Given the description of an element on the screen output the (x, y) to click on. 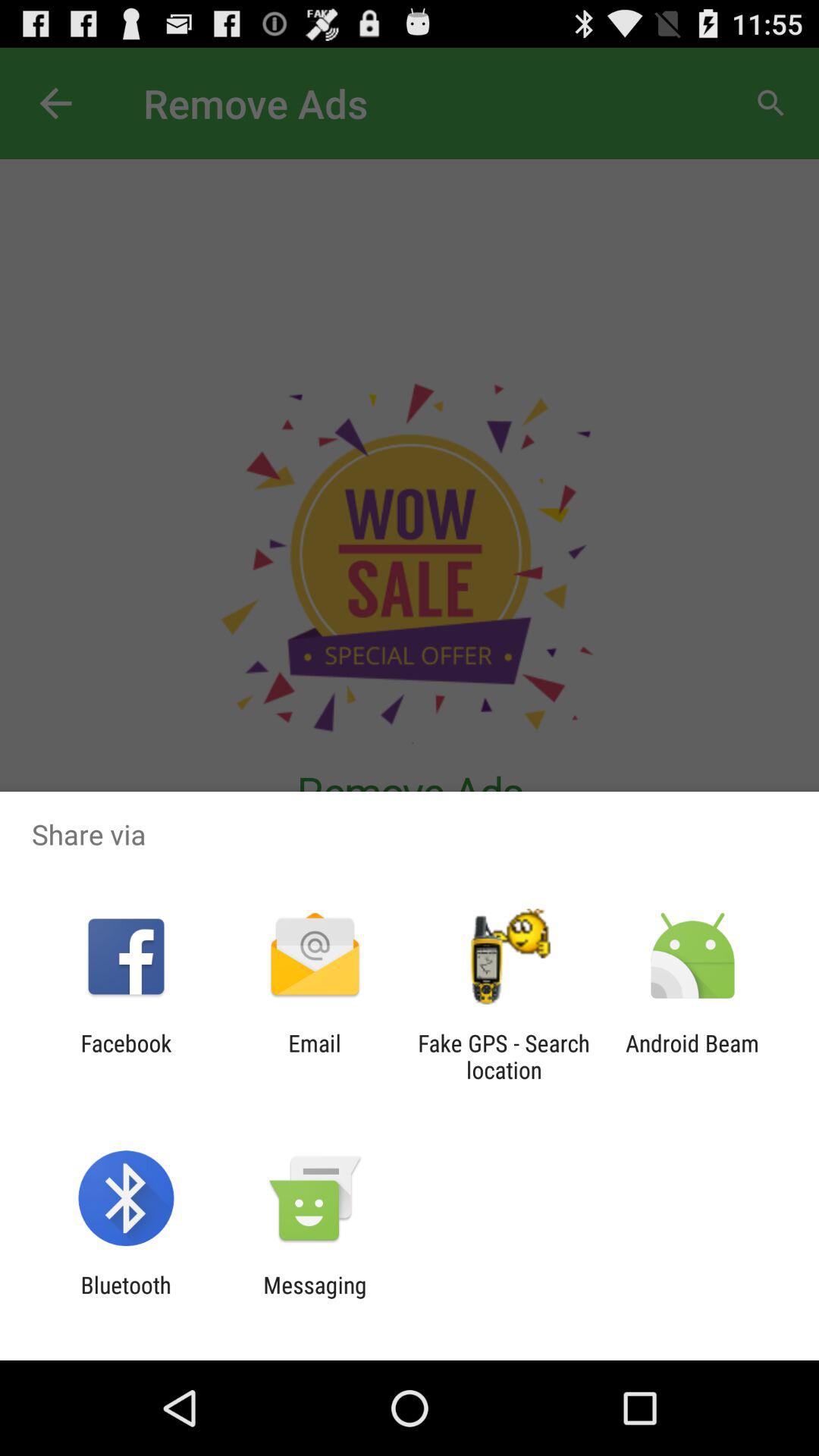
scroll to the messaging app (314, 1298)
